Given the description of an element on the screen output the (x, y) to click on. 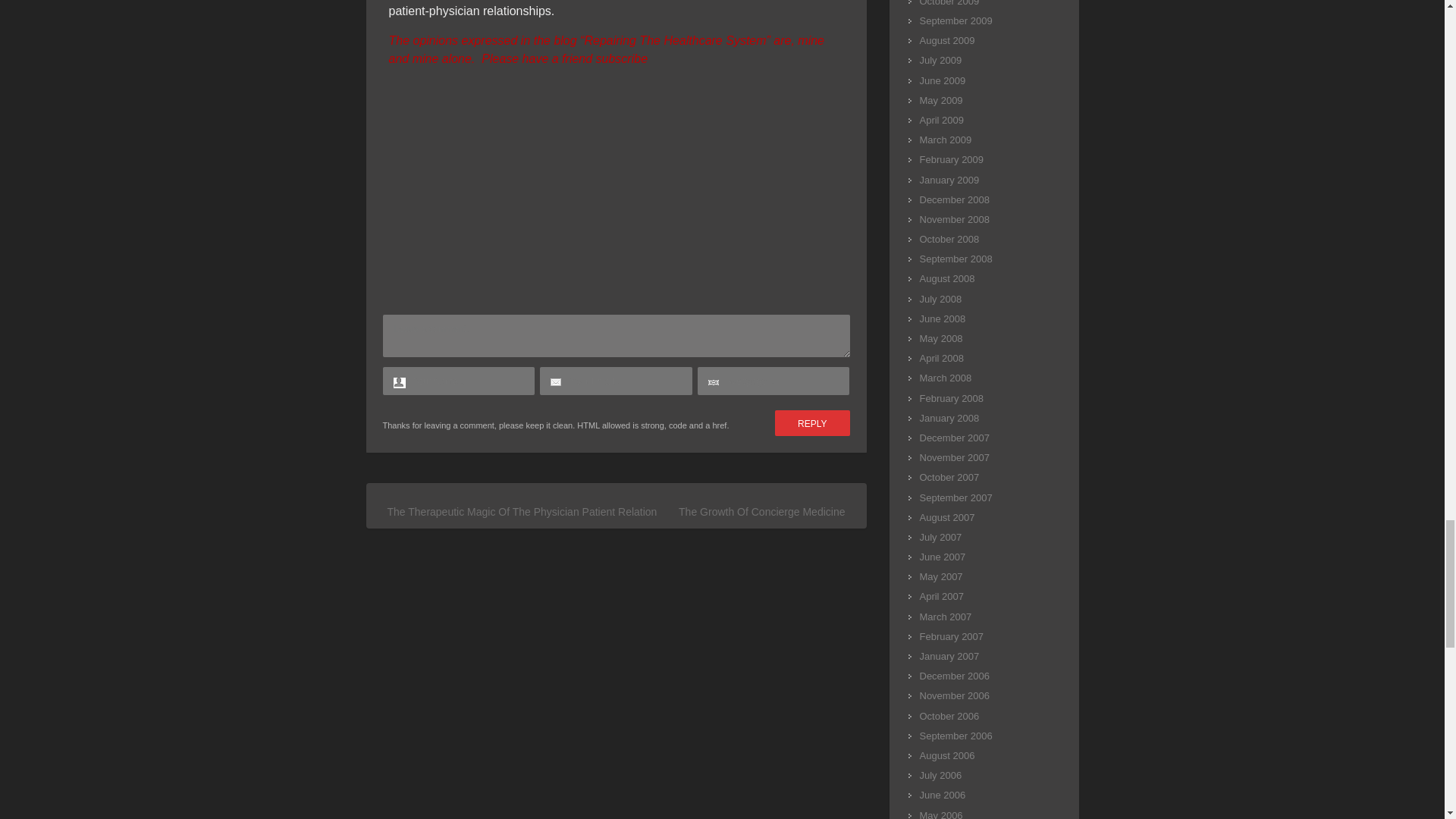
The Therapeutic Magic Of The Physician Patient Relationship (531, 511)
The Growth Of Concierge Medicine (761, 511)
Reply (811, 422)
Reply (811, 422)
